Given the description of an element on the screen output the (x, y) to click on. 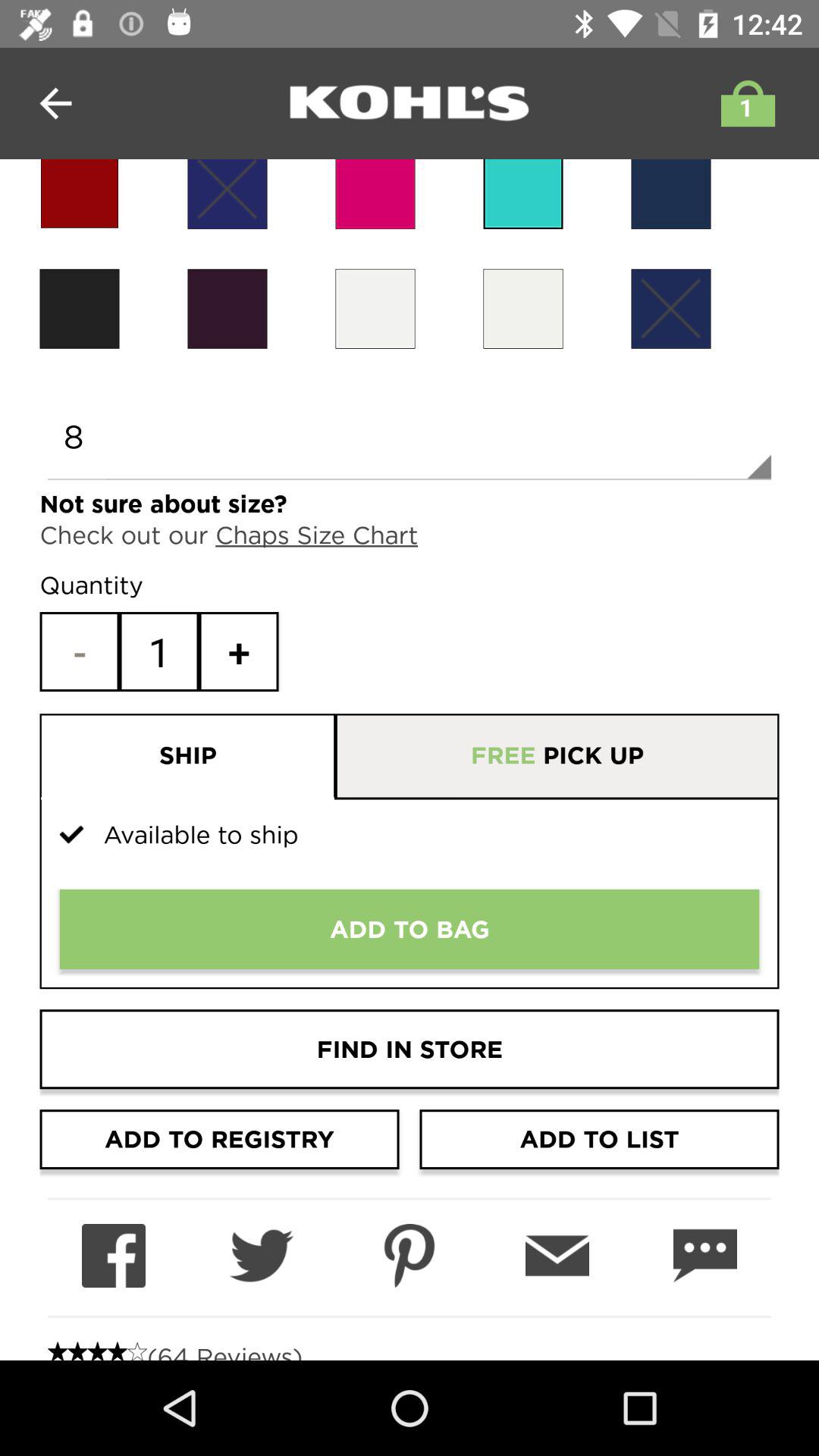
send product information to my email address (557, 1255)
